Given the description of an element on the screen output the (x, y) to click on. 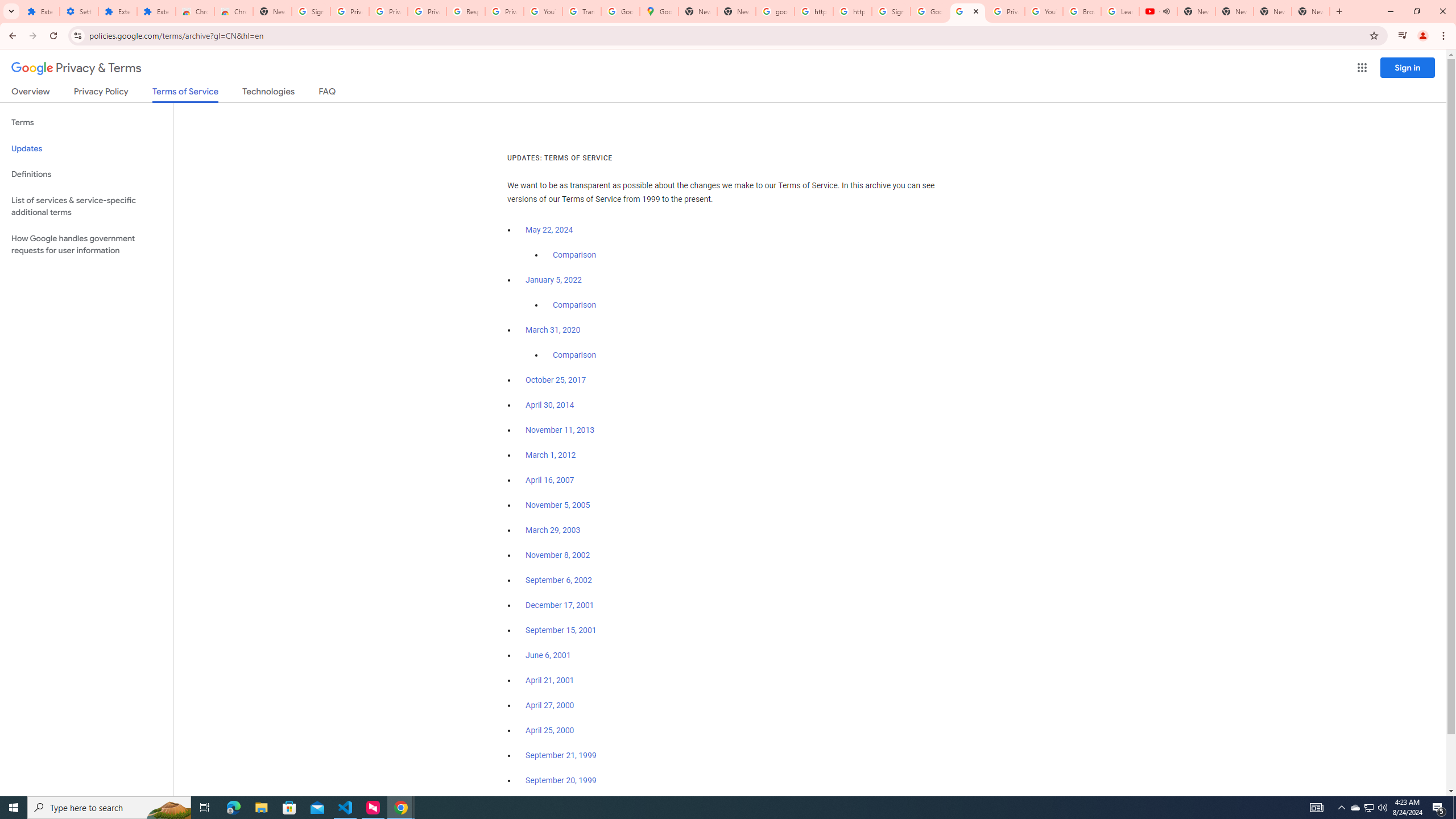
Definitions (86, 174)
YouTube (1043, 11)
April 16, 2007 (550, 480)
Google Maps (659, 11)
